Given the description of an element on the screen output the (x, y) to click on. 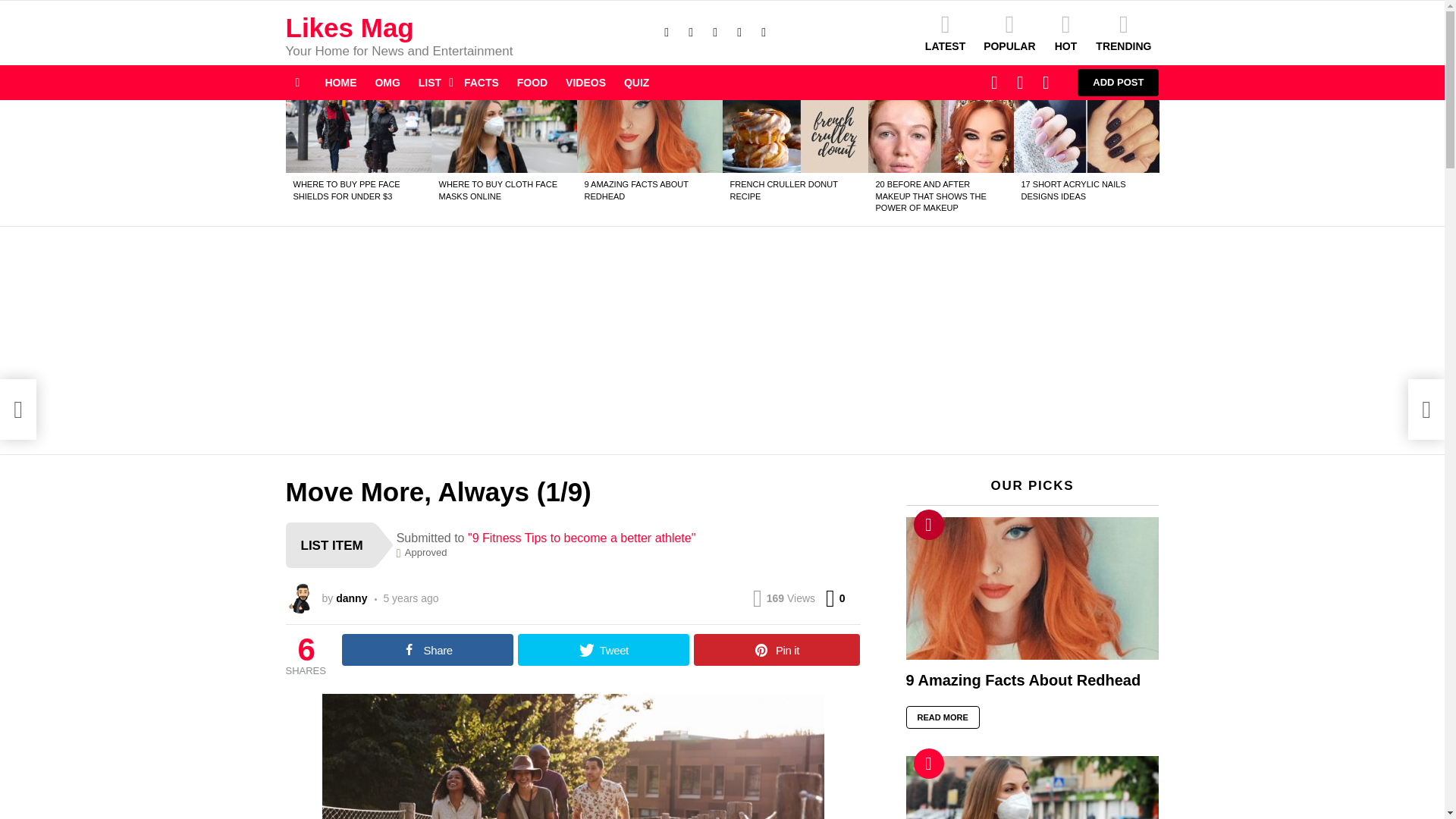
Menu (296, 82)
FACTS (481, 82)
17 Short Acrylic Nails Designs Ideas (1085, 135)
9 Amazing Facts About Redhead (649, 135)
French Cruller Donut Recipe (794, 135)
HOT (1064, 32)
LATEST (944, 32)
July 2, 2019, 8:33 am (406, 598)
TRENDING (1122, 32)
